Given the description of an element on the screen output the (x, y) to click on. 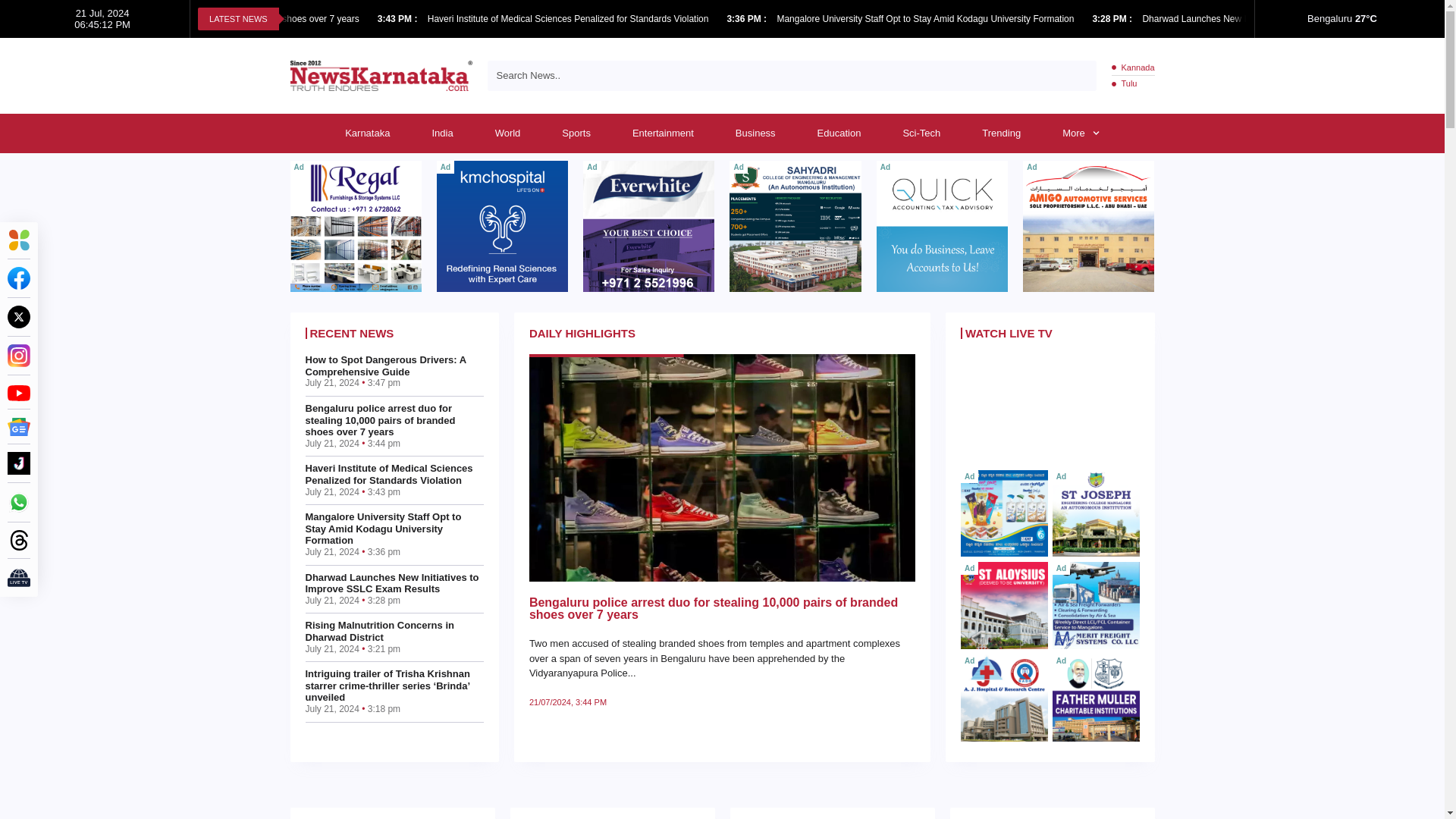
Published on: July 21, 2024 3:43 pm (398, 18)
Published on: July 21, 2024 3:36 pm (747, 18)
Published on: July 21, 2024 3:28 pm (1113, 18)
